Given the description of an element on the screen output the (x, y) to click on. 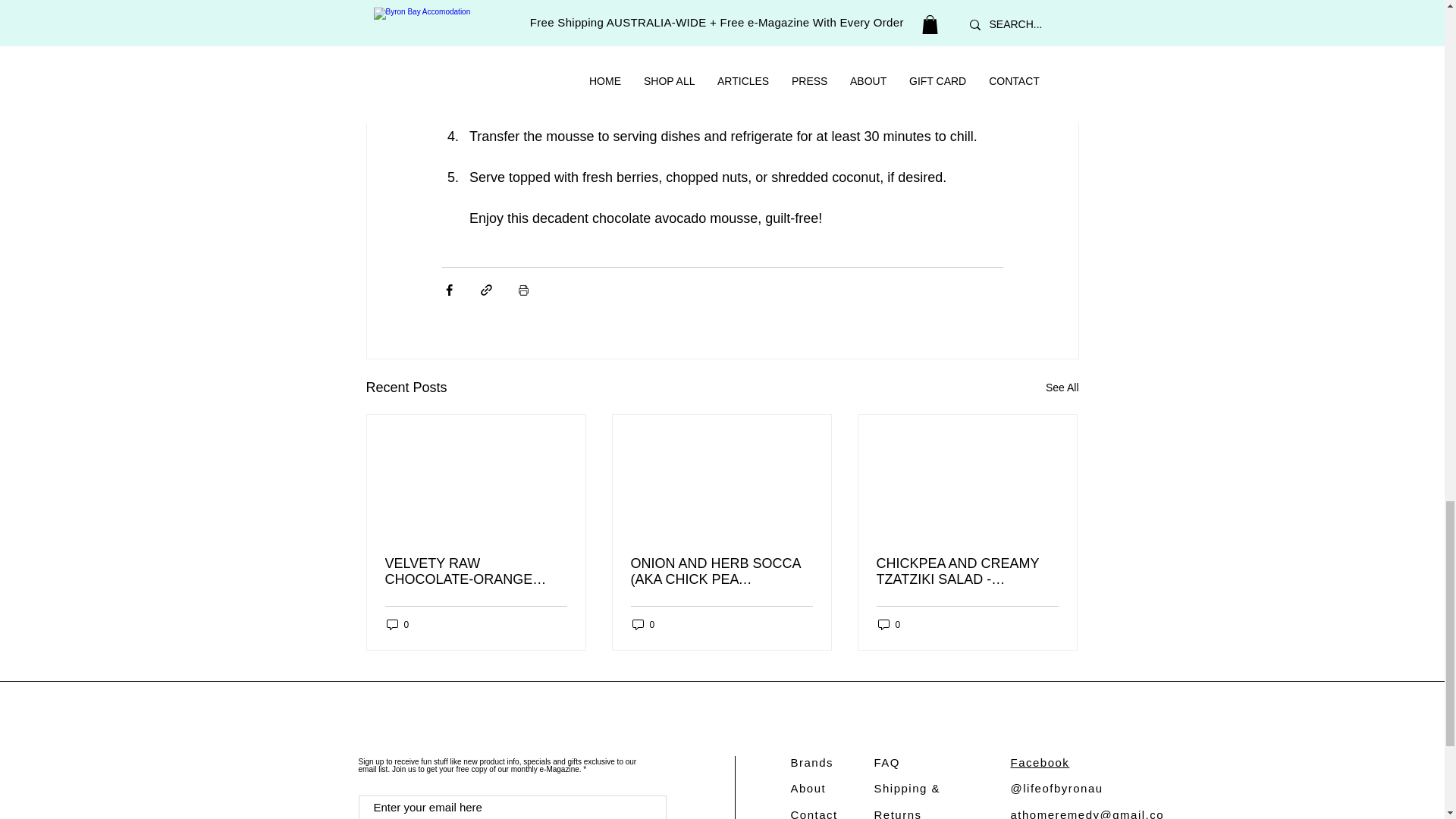
See All (1061, 387)
0 (643, 624)
0 (889, 624)
0 (397, 624)
VELVETY RAW CHOCOLATE-ORANGE TORTE (476, 572)
